Given the description of an element on the screen output the (x, y) to click on. 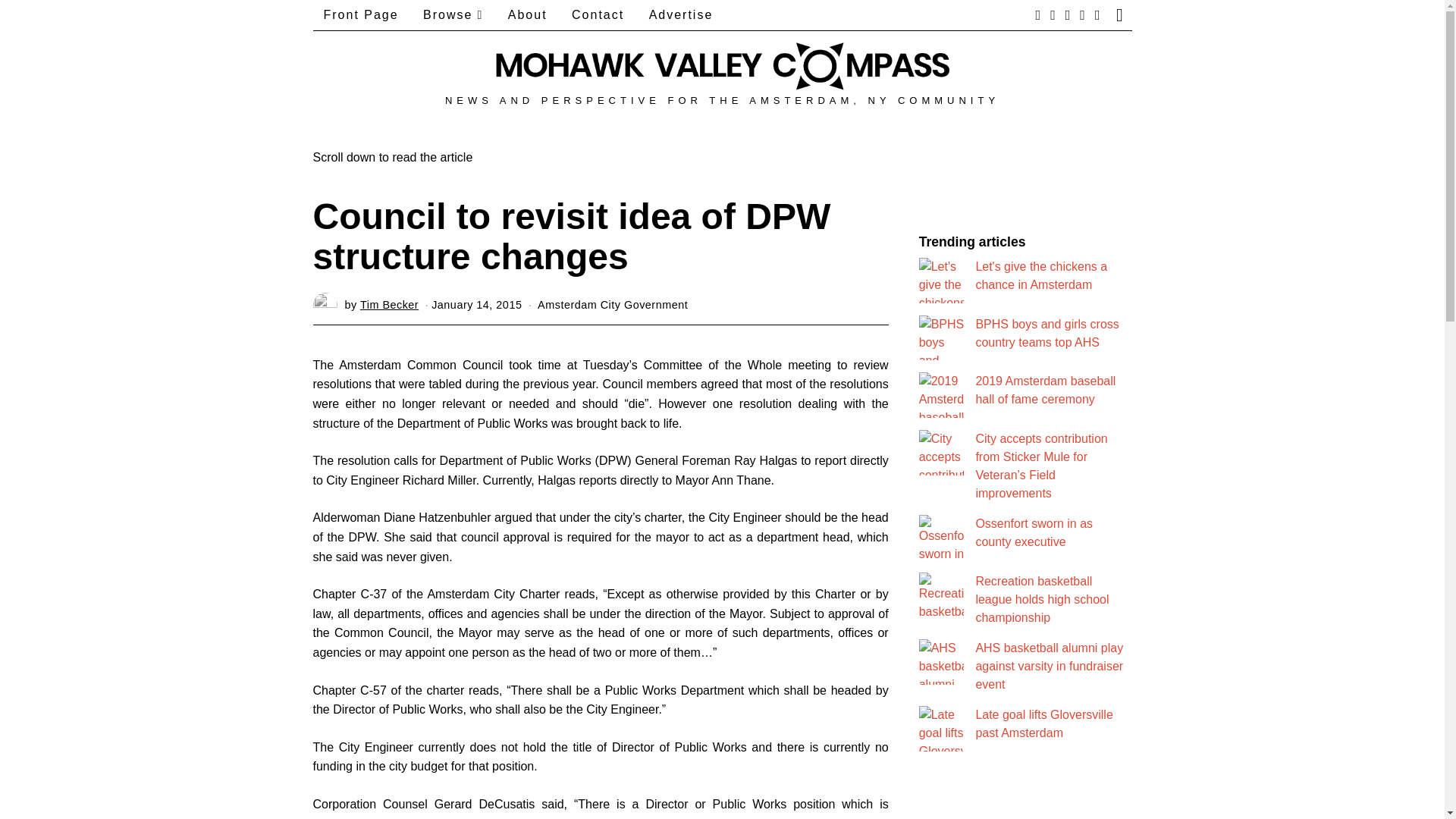
BPHS boys and girls cross country teams top AHS (1046, 332)
Front Page (361, 15)
BPHS boys and girls cross country teams top AHS (1046, 332)
Browse (452, 15)
Let's give the chickens a chance in Amsterdam (1040, 275)
Let's give the chickens a chance in Amsterdam (1040, 275)
Tim Becker (389, 304)
Advertise (681, 15)
Amsterdam City Government (612, 304)
Contact (597, 15)
